Given the description of an element on the screen output the (x, y) to click on. 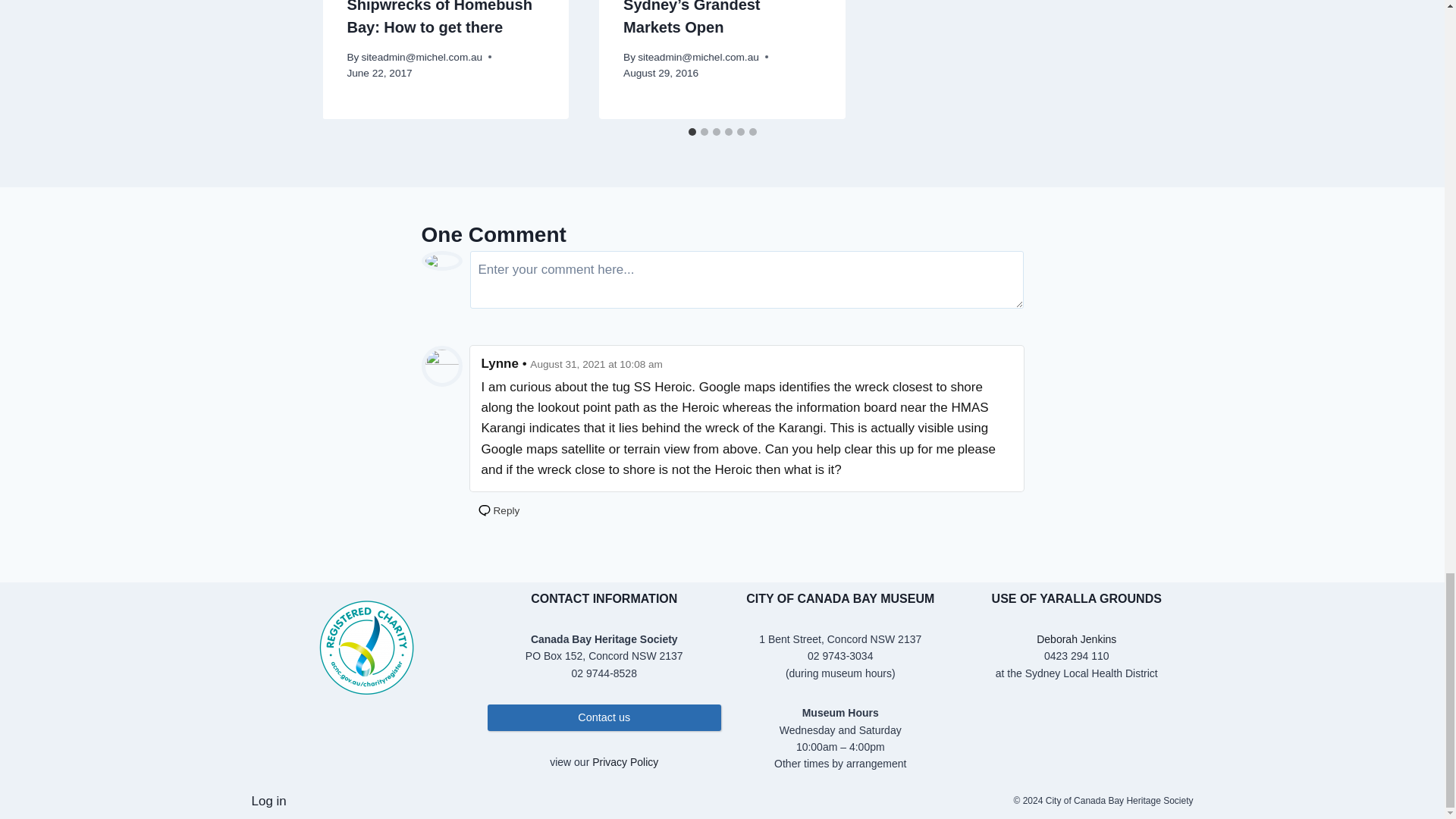
August 31, 2021 at 10:08 am (595, 364)
Enter your comment here... (746, 279)
